Given the description of an element on the screen output the (x, y) to click on. 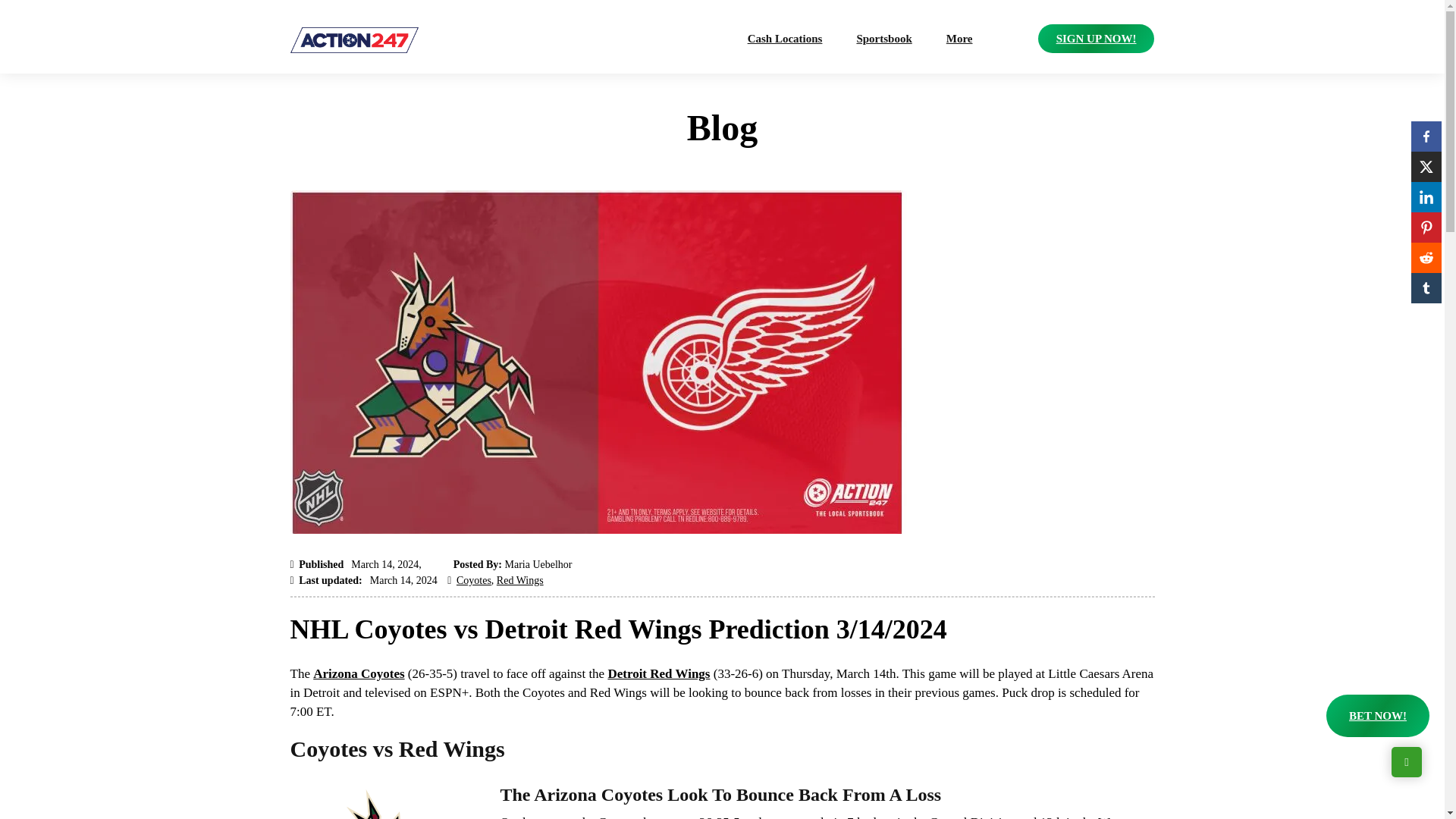
Cash Locations (785, 38)
Detroit Red Wings (658, 673)
Pinterest (1425, 227)
SIGN UP NOW! (1096, 38)
Coyotes (474, 580)
Sportsbook (883, 38)
X (1425, 166)
Linkedin (1425, 196)
Arizona Coyotes (358, 673)
Facebook (1425, 136)
